Given the description of an element on the screen output the (x, y) to click on. 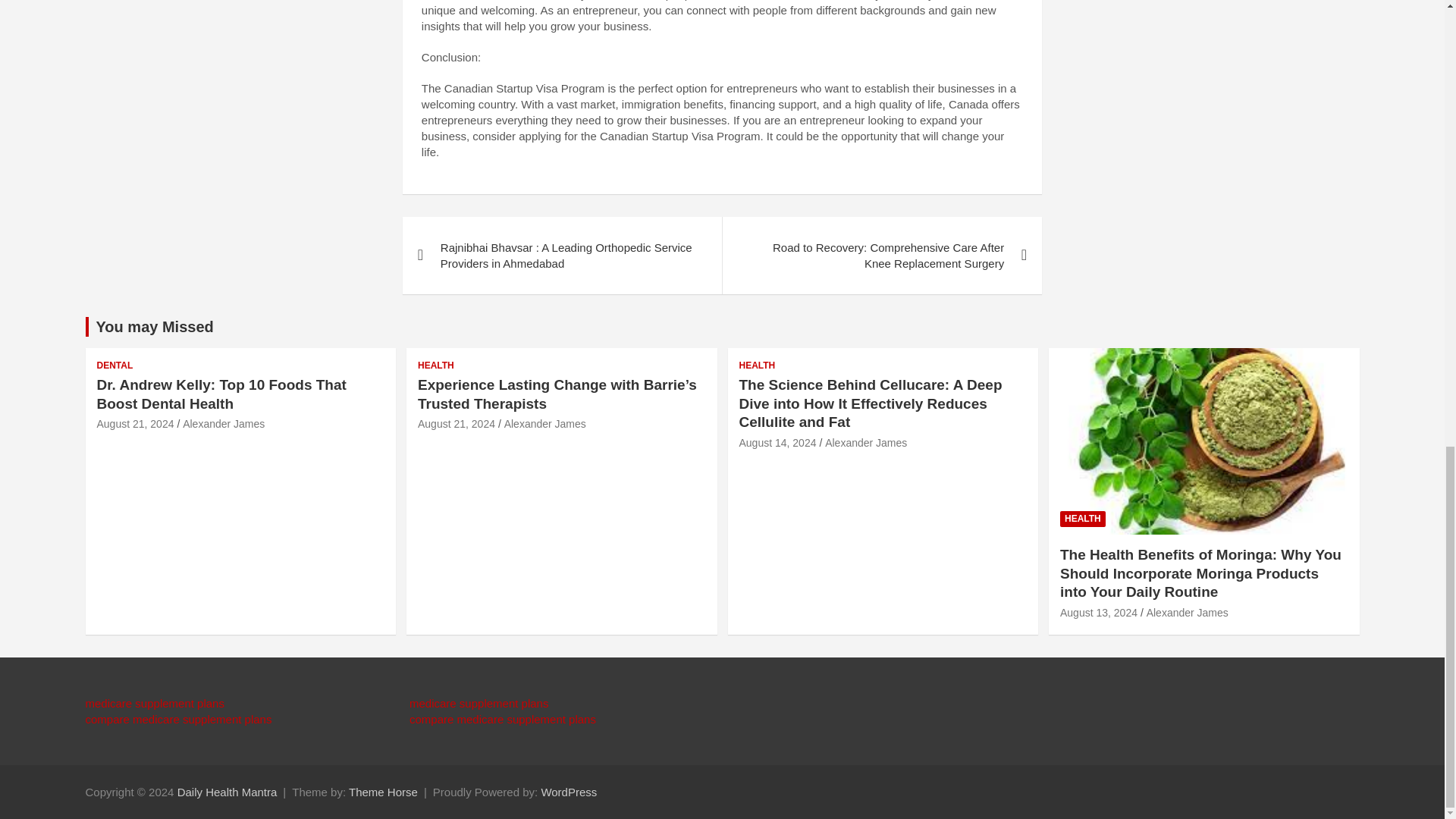
August 21, 2024 (135, 423)
Alexander James (223, 423)
medicare supplement plans (154, 703)
August 13, 2024 (1098, 612)
Alexander James (544, 423)
Theme Horse (383, 790)
WordPress (568, 790)
You may Missed (154, 326)
medicare supplement plans (478, 703)
